Given the description of an element on the screen output the (x, y) to click on. 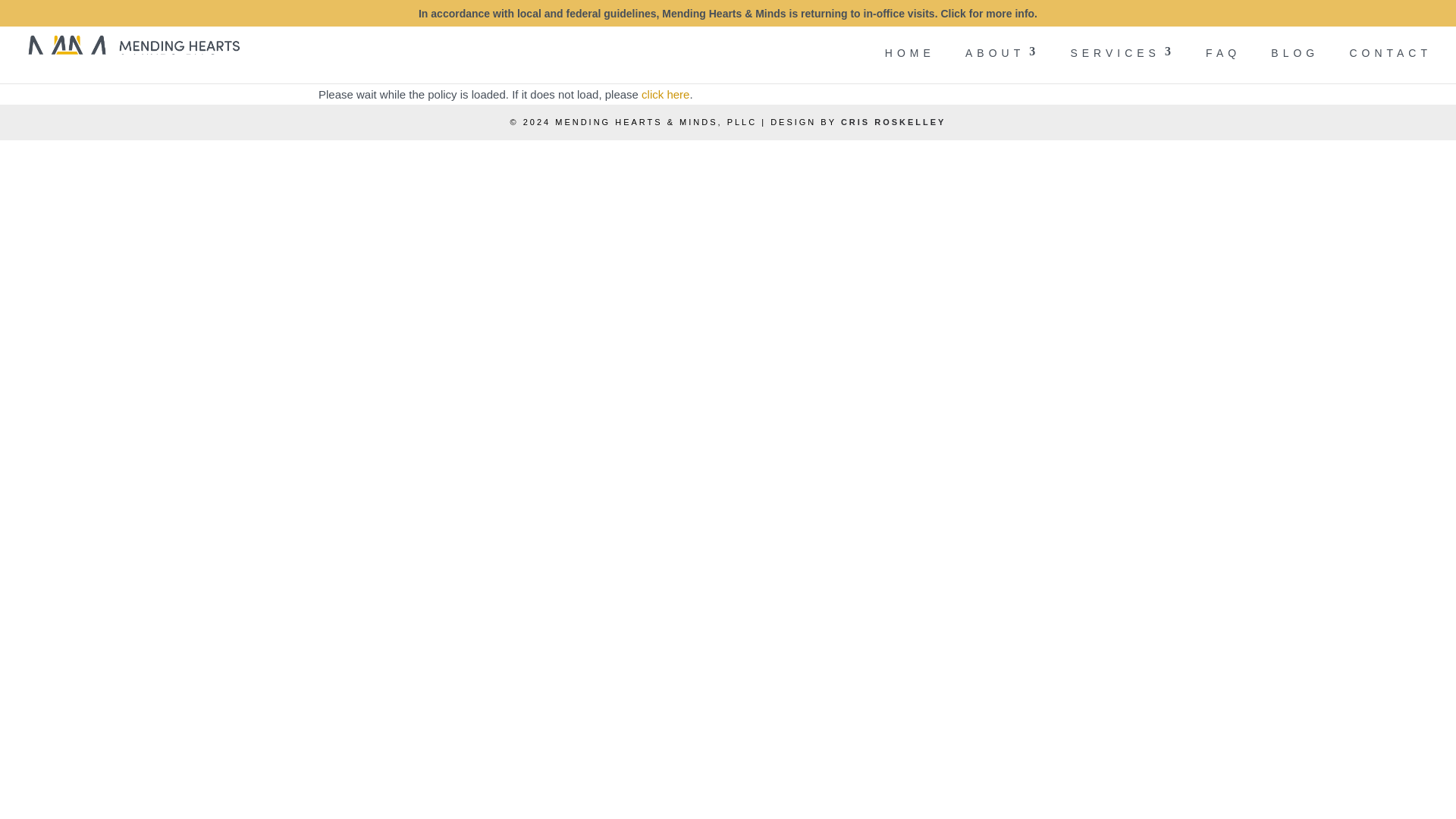
CONTACT (1390, 65)
BLOG (1295, 65)
ABOUT (1002, 65)
FAQ (1222, 65)
CRIS ROSKELLEY (893, 121)
SERVICES (1122, 65)
click here (665, 93)
HOME (909, 65)
